Given the description of an element on the screen output the (x, y) to click on. 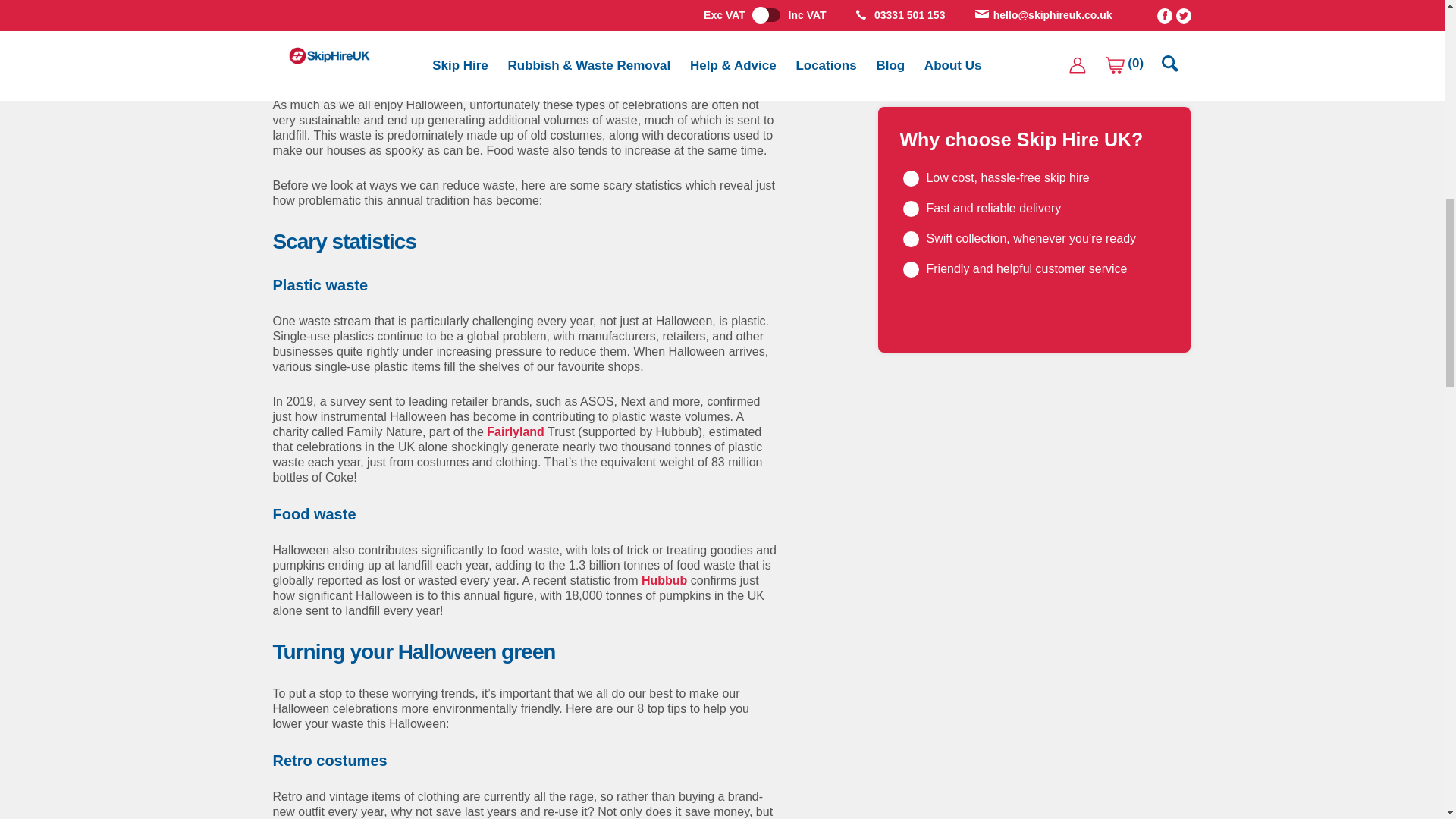
Fairlyland (515, 431)
Hubbub (664, 580)
VIEW ALL (941, 56)
